Given the description of an element on the screen output the (x, y) to click on. 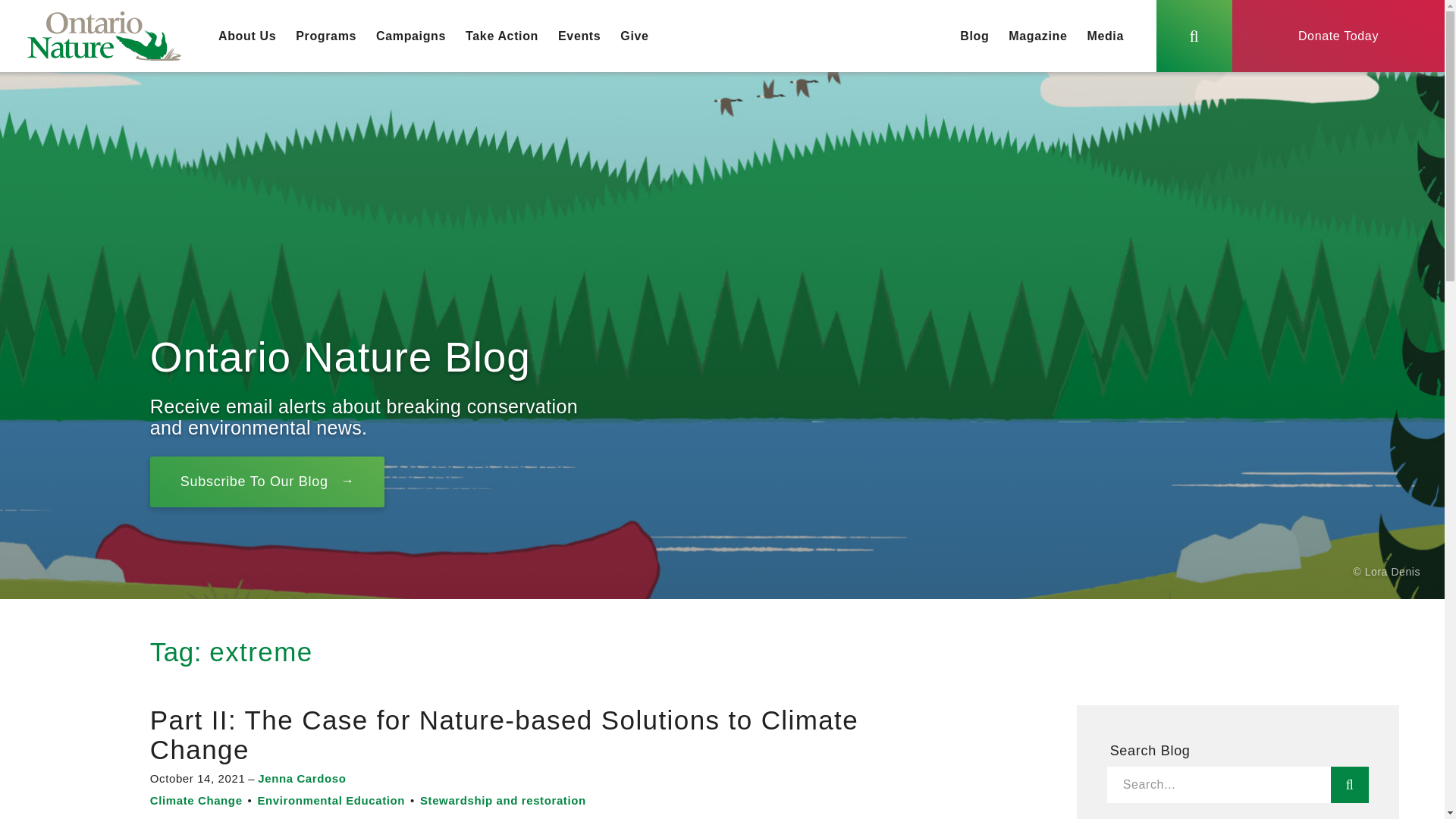
Home (104, 35)
Category: Climate Change (196, 799)
Signup to receive blog update notifications (267, 481)
Enter search term (1218, 784)
Category: Stewardship and restoration (503, 799)
Search blog posts (1349, 784)
Authored by: Jenna Cardoso (301, 778)
Programs (325, 36)
About Us (246, 36)
Category: Environmental Education (330, 799)
